Given the description of an element on the screen output the (x, y) to click on. 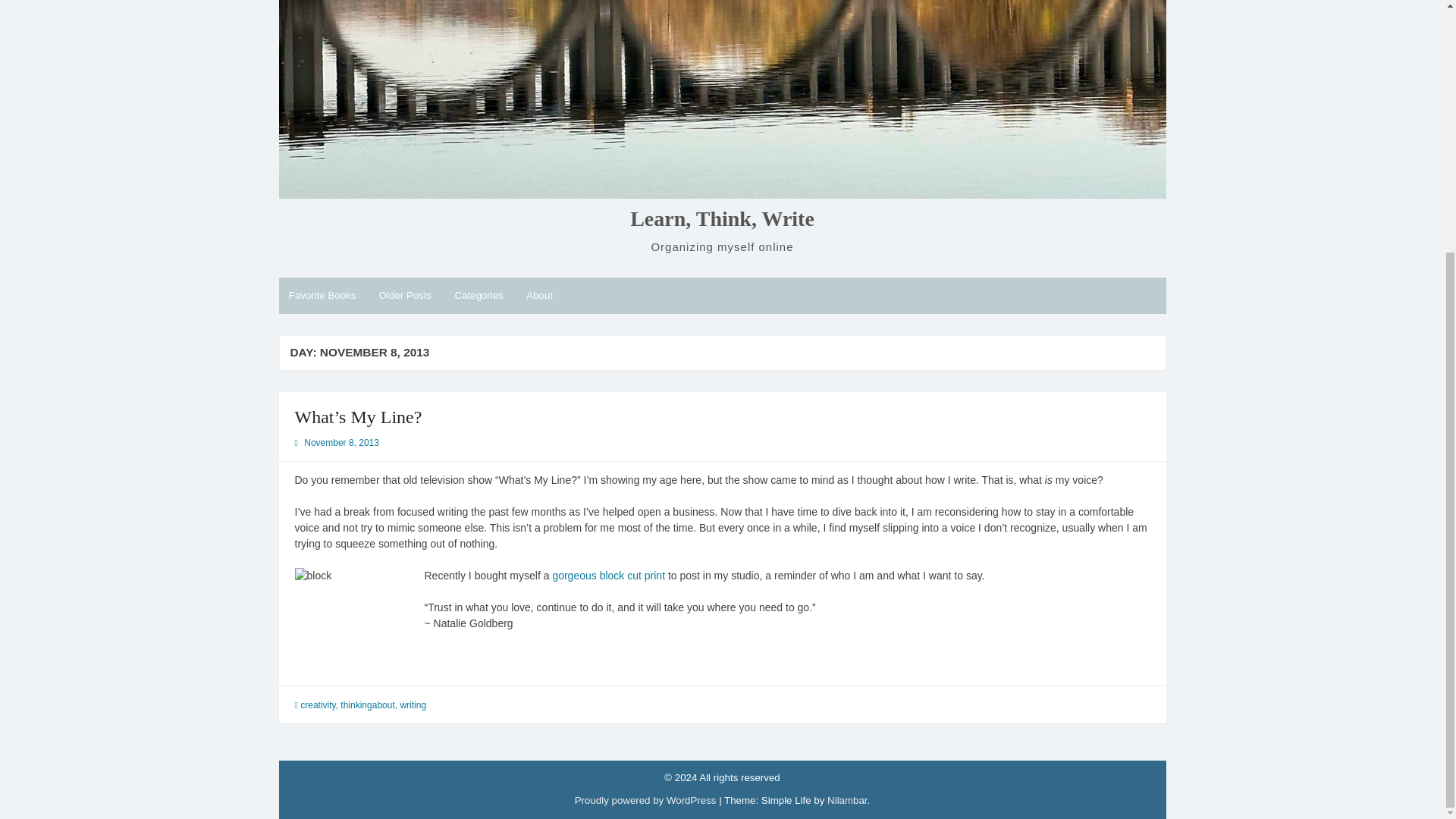
writing (412, 705)
Favorite Books (322, 295)
About (539, 295)
Categories (478, 295)
thinkingabout (367, 705)
Older Posts (404, 295)
Nilambar (846, 799)
Proudly powered by WordPress (645, 799)
November 8, 2013 (341, 442)
Learn, Think, Write (721, 218)
